Given the description of an element on the screen output the (x, y) to click on. 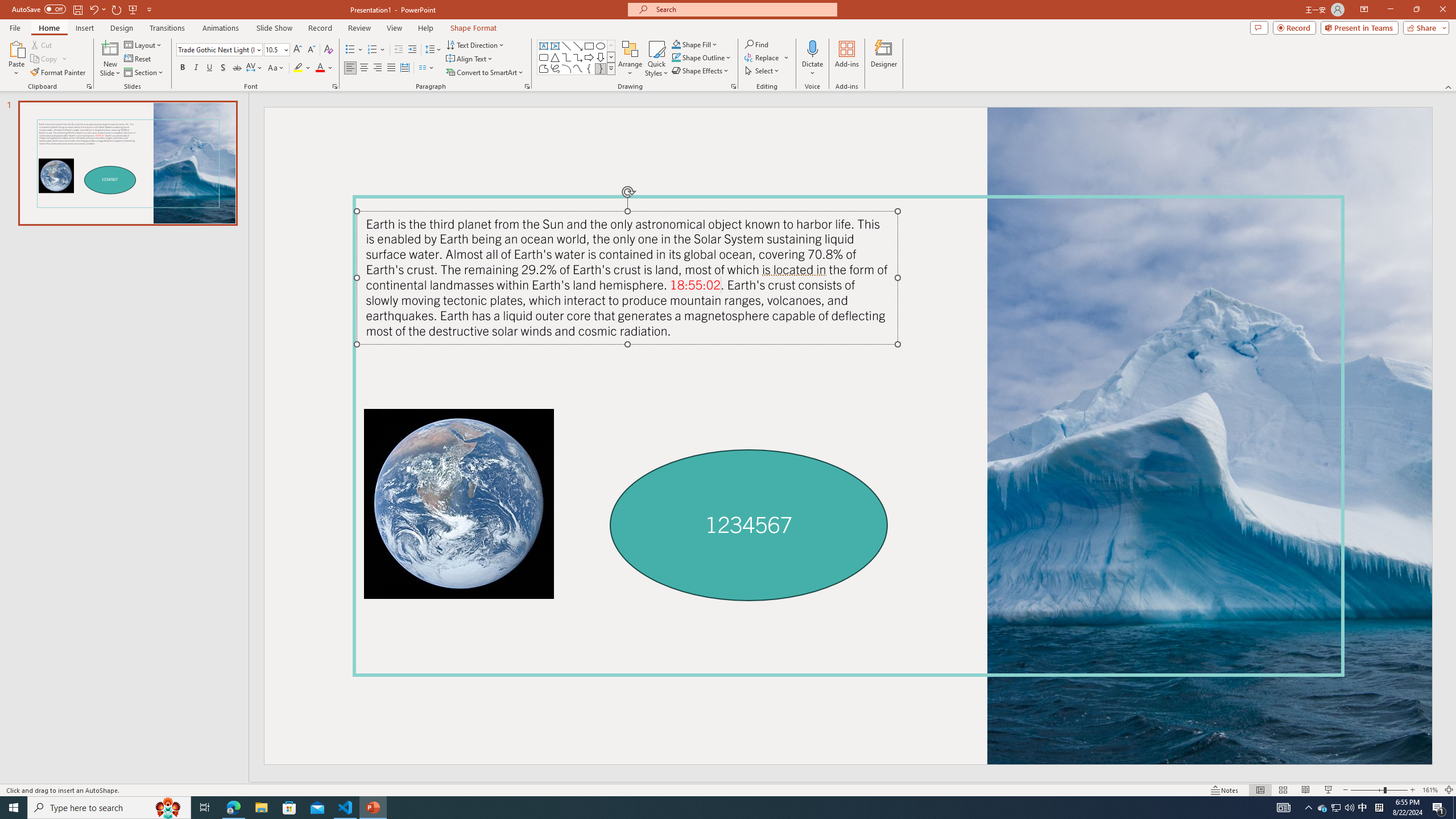
Zoom 161% (1430, 790)
